Given the description of an element on the screen output the (x, y) to click on. 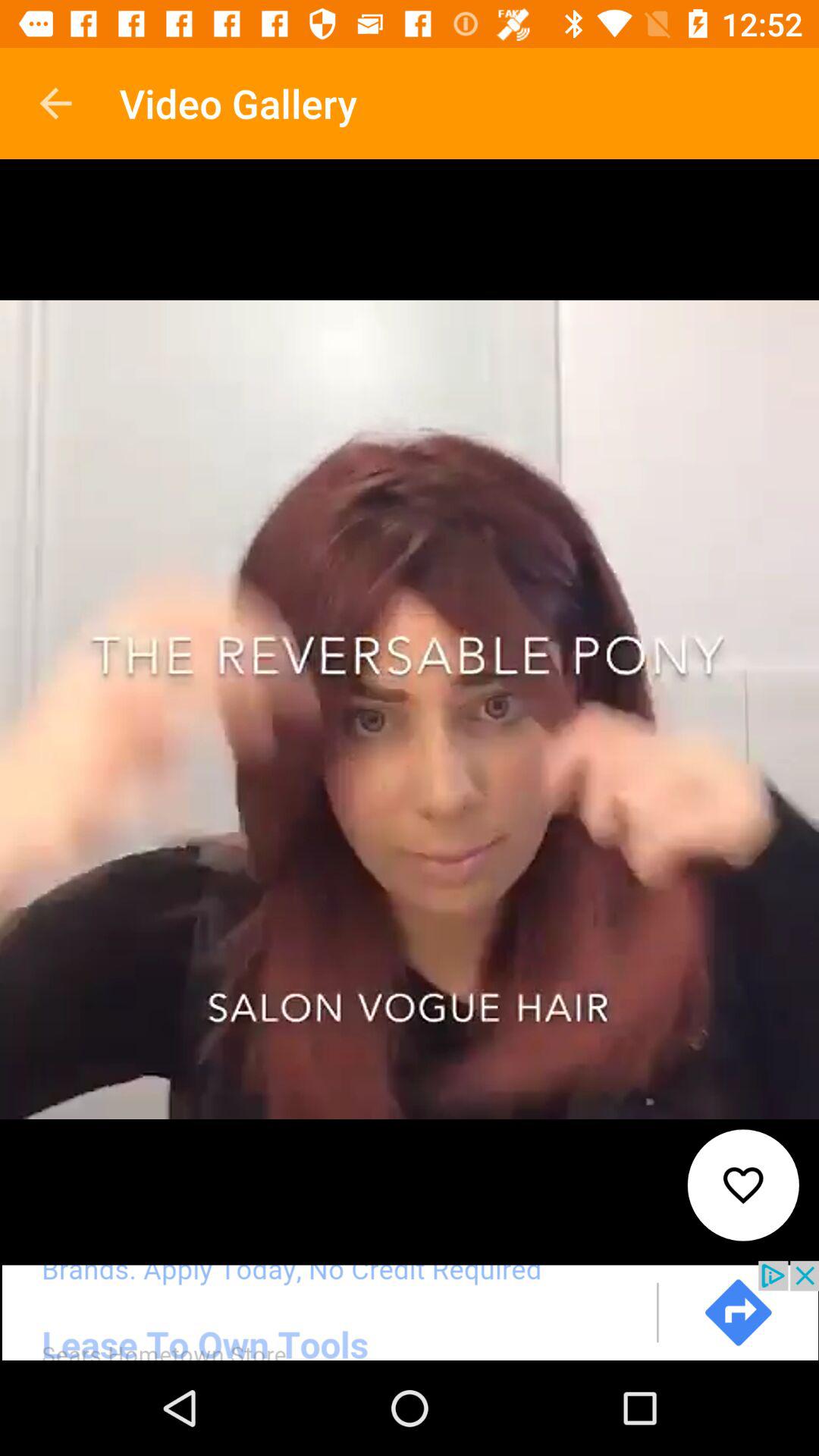
go forward to the advertisement (409, 1310)
